Given the description of an element on the screen output the (x, y) to click on. 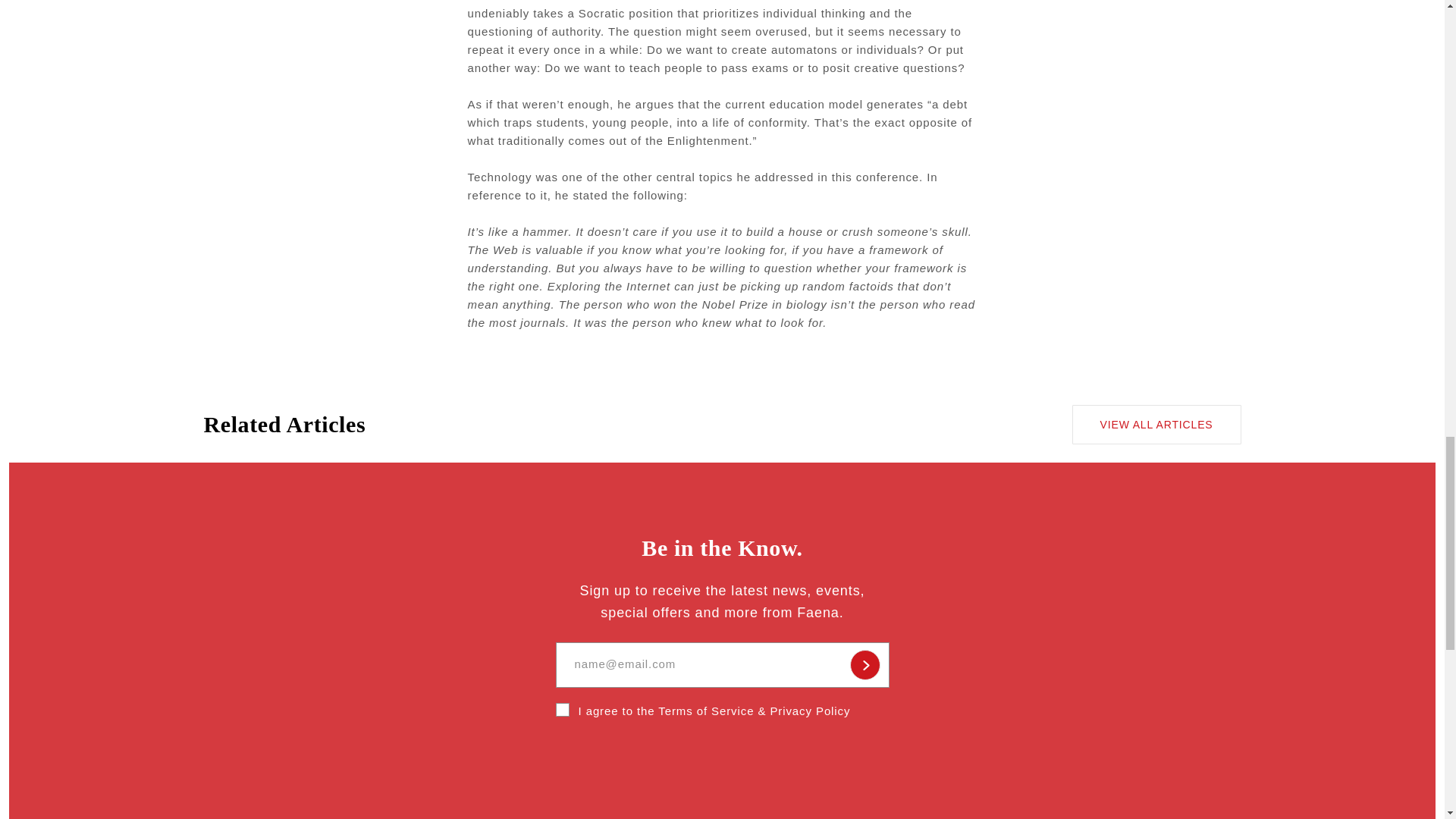
1 (561, 709)
Submit (863, 665)
Submit (863, 665)
VIEW ALL ARTICLES (1156, 424)
